Given the description of an element on the screen output the (x, y) to click on. 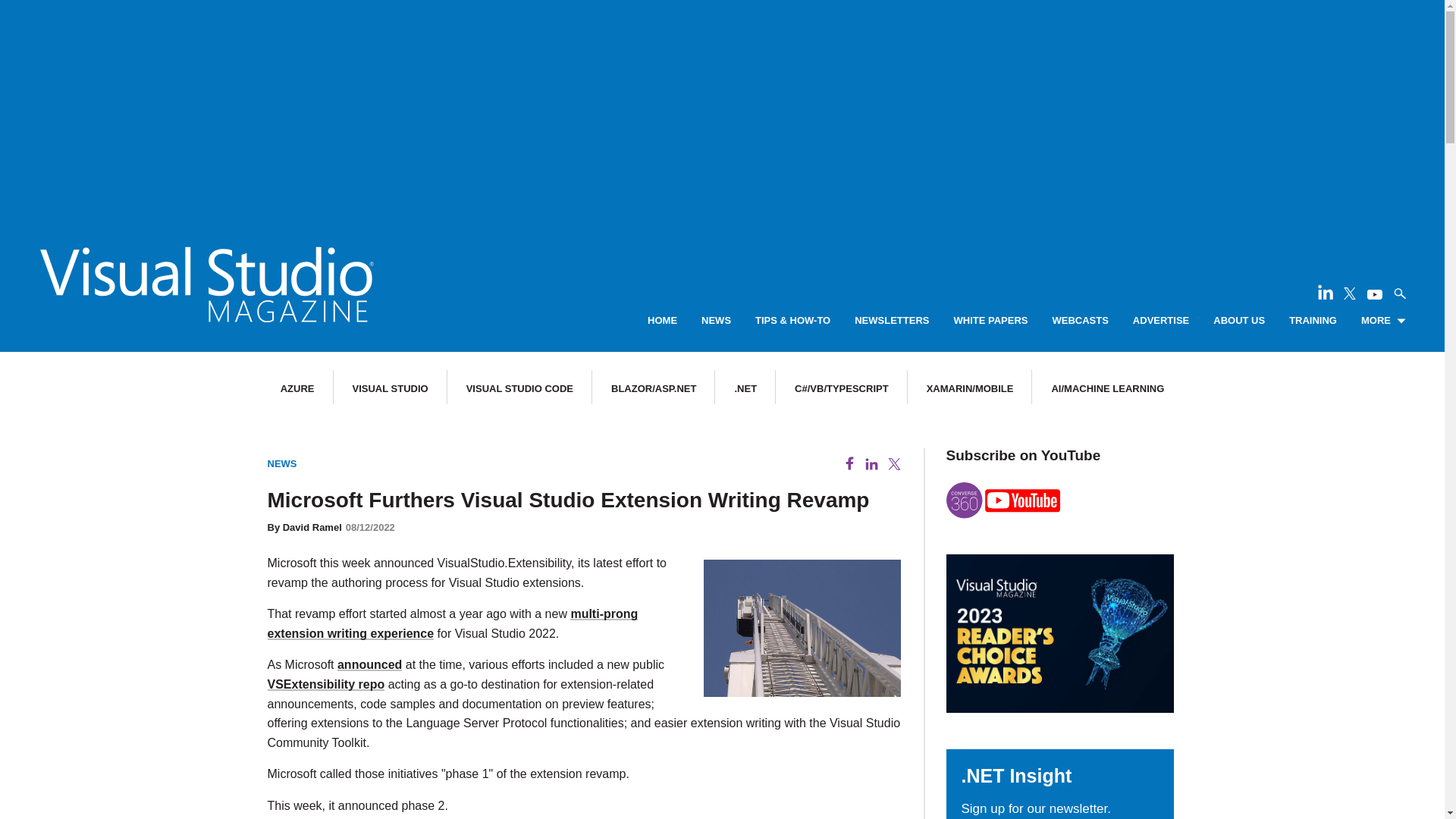
AZURE (297, 388)
TRAINING (1312, 320)
VISUAL STUDIO (390, 388)
NEWS (715, 320)
ADVERTISE (1160, 320)
.NET (745, 388)
VISUAL STUDIO CODE (519, 388)
WEBCASTS (1079, 320)
HOME (662, 320)
MORE (1383, 320)
NEWSLETTERS (891, 320)
WHITE PAPERS (990, 320)
ABOUT US (1238, 320)
